Given the description of an element on the screen output the (x, y) to click on. 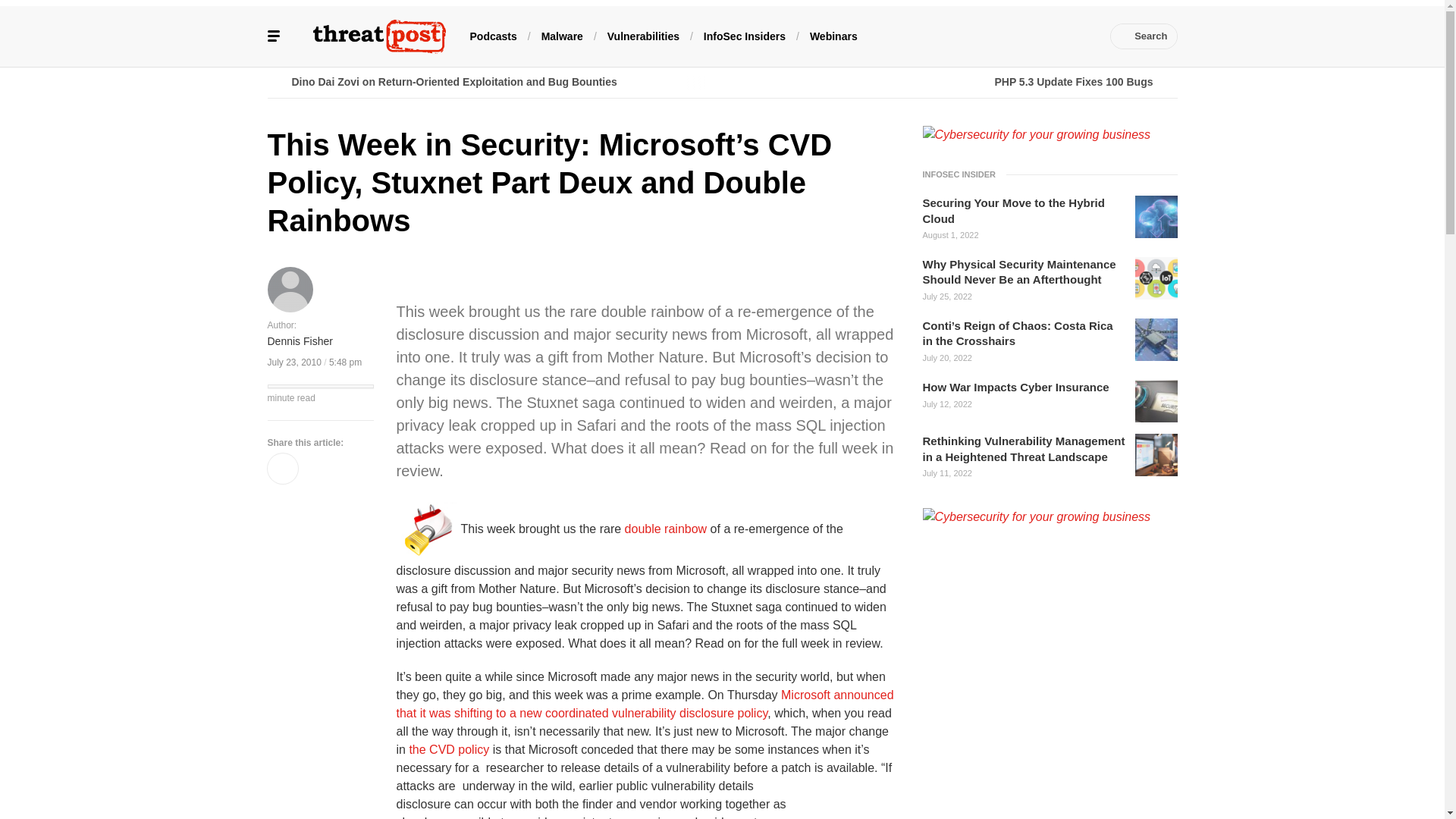
Vulnerabilities (643, 35)
Facebook (944, 36)
double rainbow (665, 527)
LinkedIn (989, 36)
Dennis Fisher (298, 342)
Feedly (1034, 36)
Podcasts (493, 35)
InfoSec Insiders (744, 35)
RSS (1080, 36)
Search (1143, 36)
the CVD policy (449, 748)
YouTube (1012, 36)
PHP 5.3 Update Fixes 100 Bugs (949, 82)
Instagram (1057, 36)
